Given the description of an element on the screen output the (x, y) to click on. 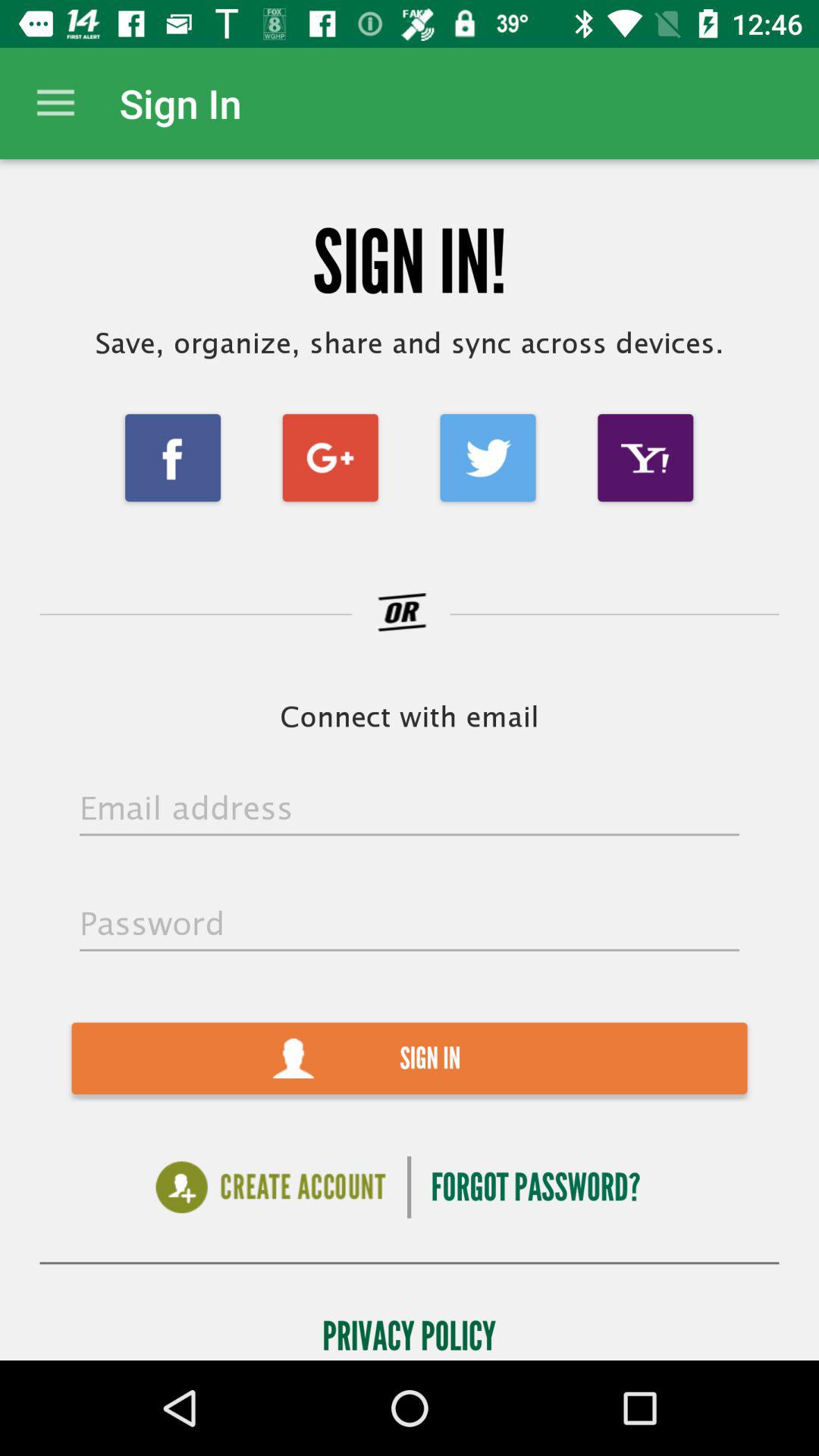
open the item below save organize share icon (645, 457)
